Given the description of an element on the screen output the (x, y) to click on. 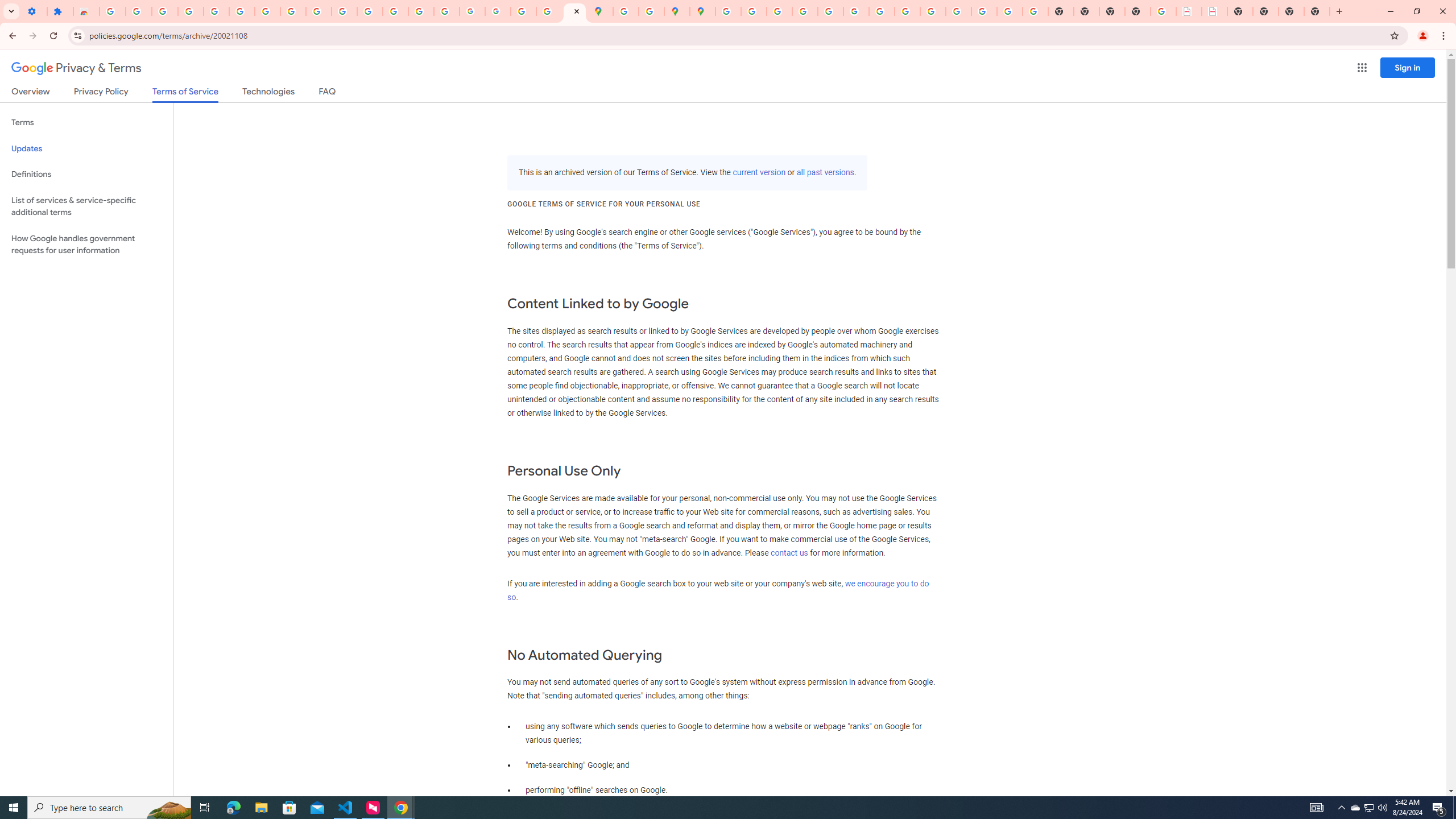
current version (759, 172)
Reviews: Helix Fruit Jump Arcade Game (86, 11)
Privacy Help Center - Policies Help (804, 11)
https://scholar.google.com/ (369, 11)
New Tab (1316, 11)
LAAD Defence & Security 2025 | BAE Systems (1188, 11)
Google Account (293, 11)
How Google handles government requests for user information (86, 244)
Settings - On startup (34, 11)
we encourage you to do so (717, 589)
Sign in - Google Accounts (112, 11)
